Given the description of an element on the screen output the (x, y) to click on. 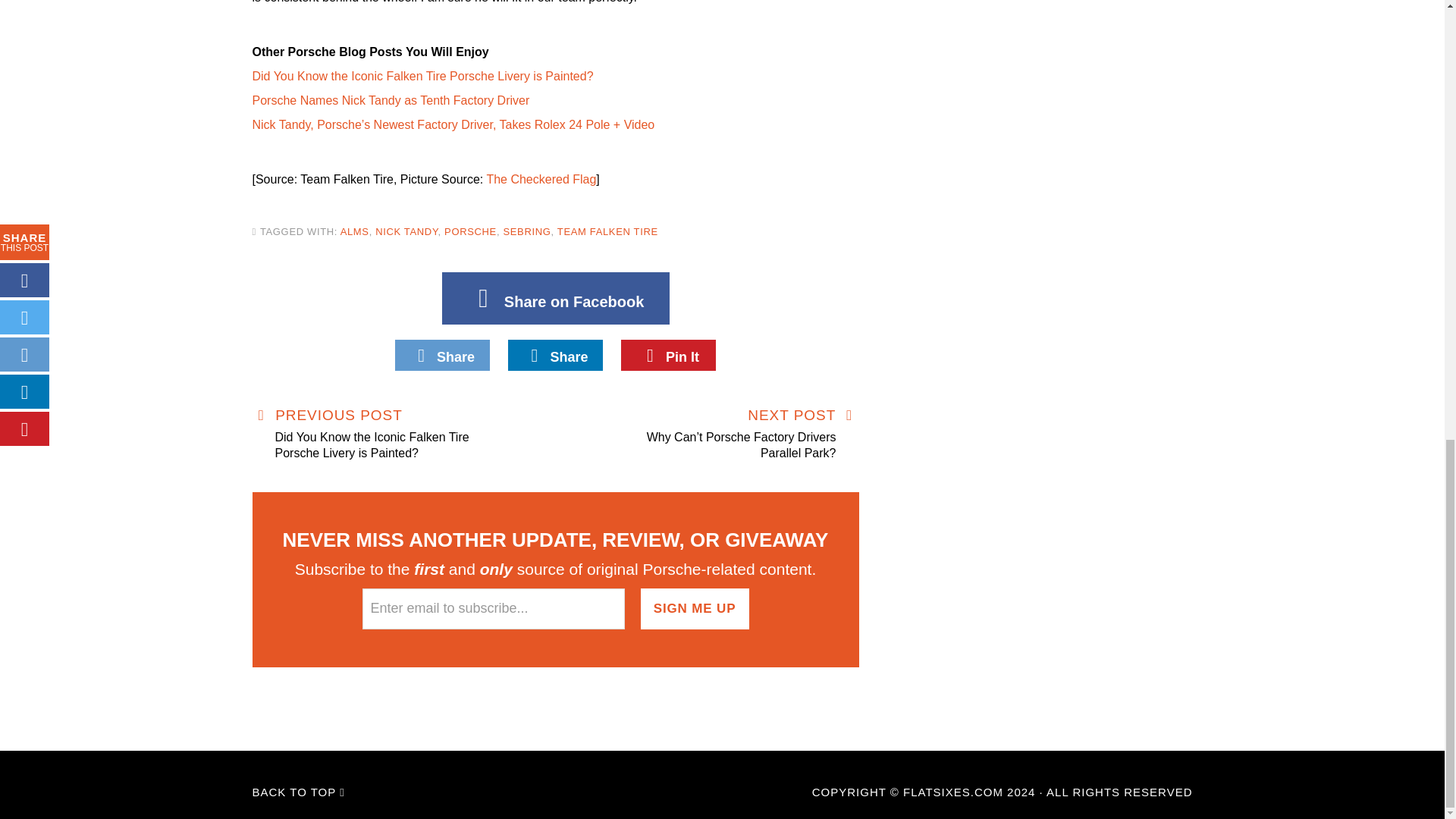
SIGN ME UP (694, 608)
